Given the description of an element on the screen output the (x, y) to click on. 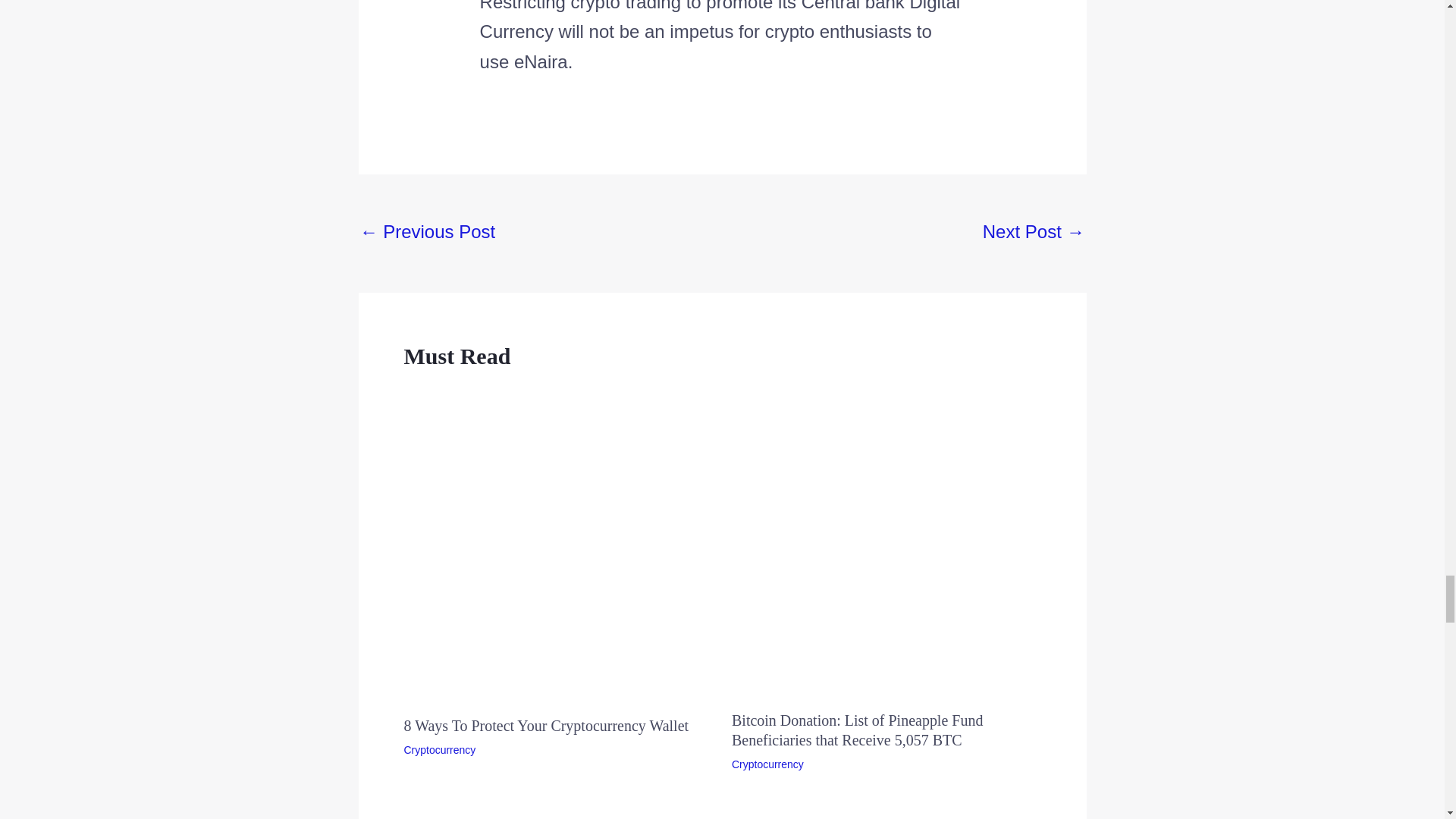
20 Business Ideas in Power Sector (427, 233)
8 Ways To Protect Your Cryptocurrency Wallet (545, 725)
Cryptocurrency (439, 749)
